Given the description of an element on the screen output the (x, y) to click on. 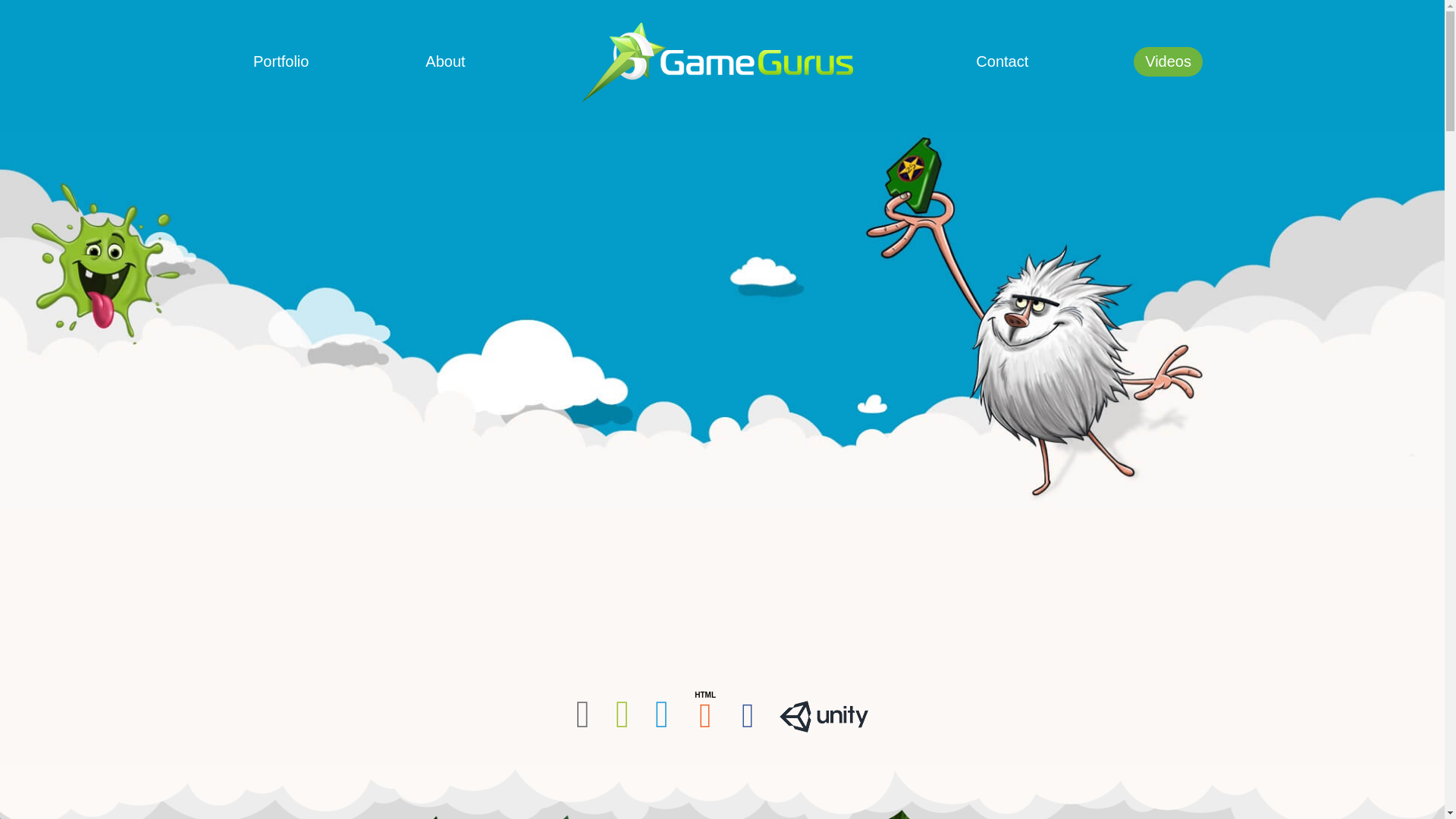
About (444, 61)
Videos (1168, 61)
Contact (1001, 61)
Portfolio (280, 61)
